Given the description of an element on the screen output the (x, y) to click on. 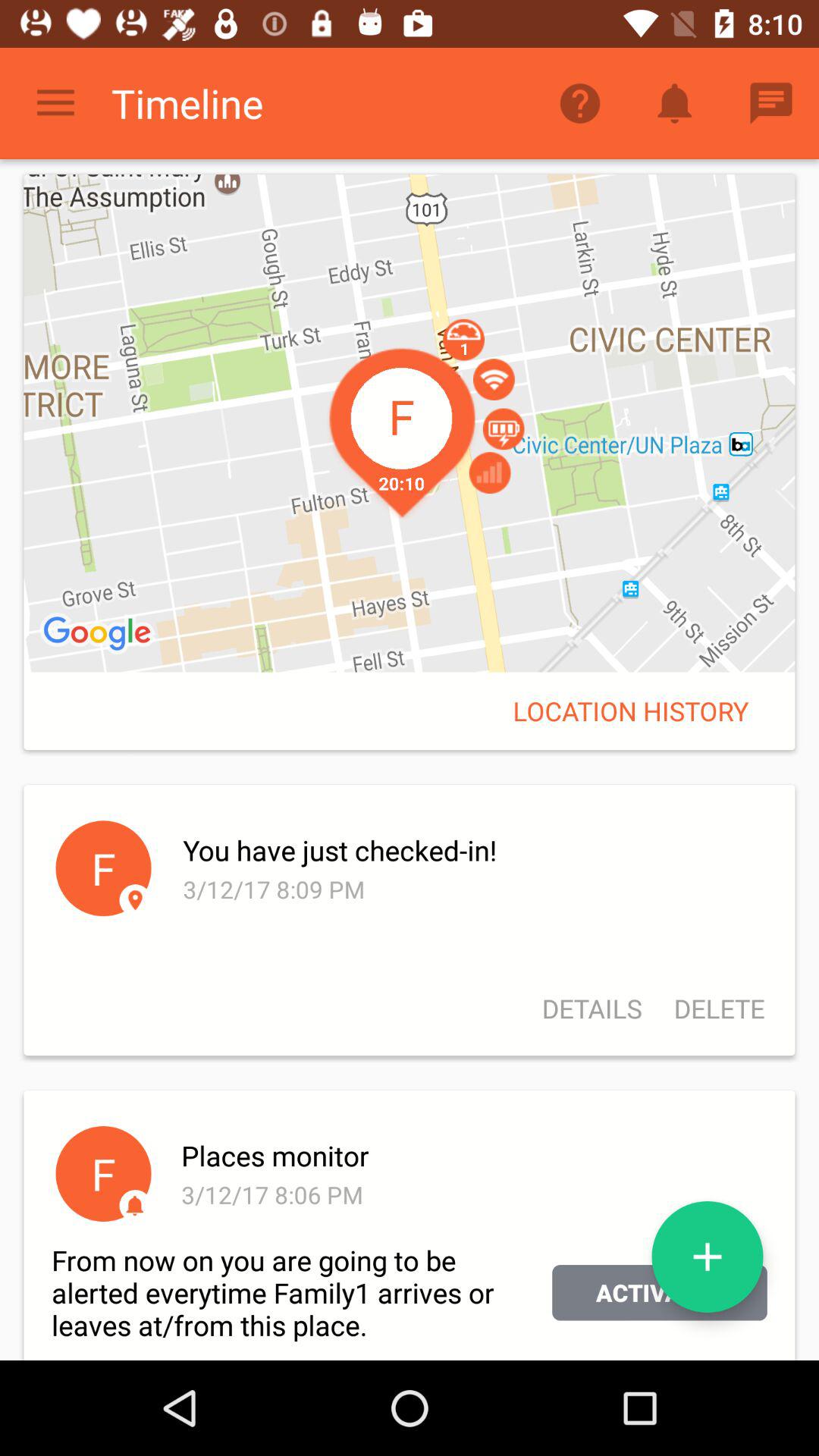
choose the item above the location history icon (409, 423)
